Given the description of an element on the screen output the (x, y) to click on. 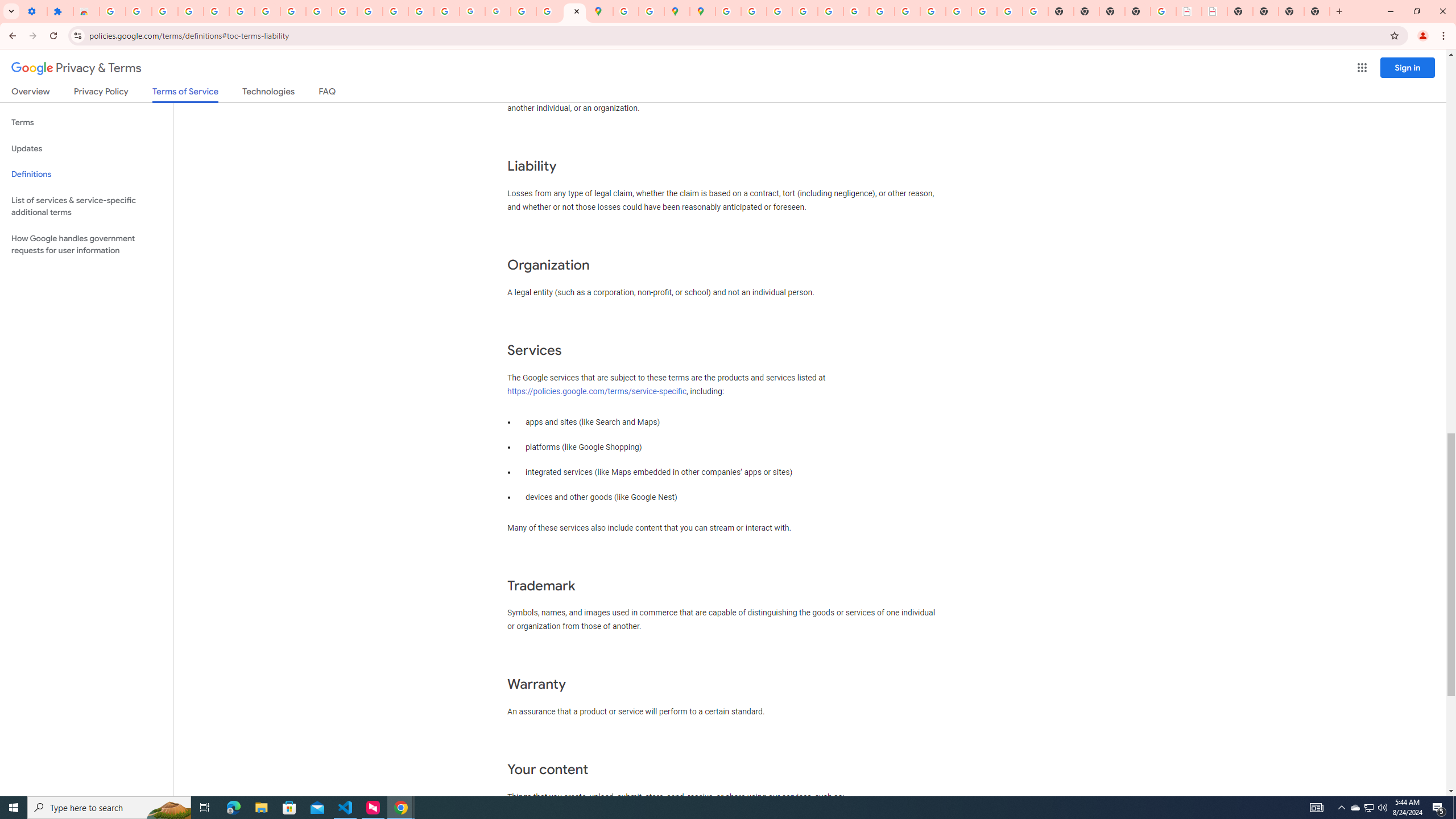
Google apps (1362, 67)
Privacy Help Center - Policies Help (779, 11)
Extensions (60, 11)
Privacy Policy (100, 93)
Sign in (1407, 67)
BAE Systems Brasil | BAE Systems (1213, 11)
Settings - On startup (34, 11)
Chrome (1445, 35)
Sign in - Google Accounts (112, 11)
